Given the description of an element on the screen output the (x, y) to click on. 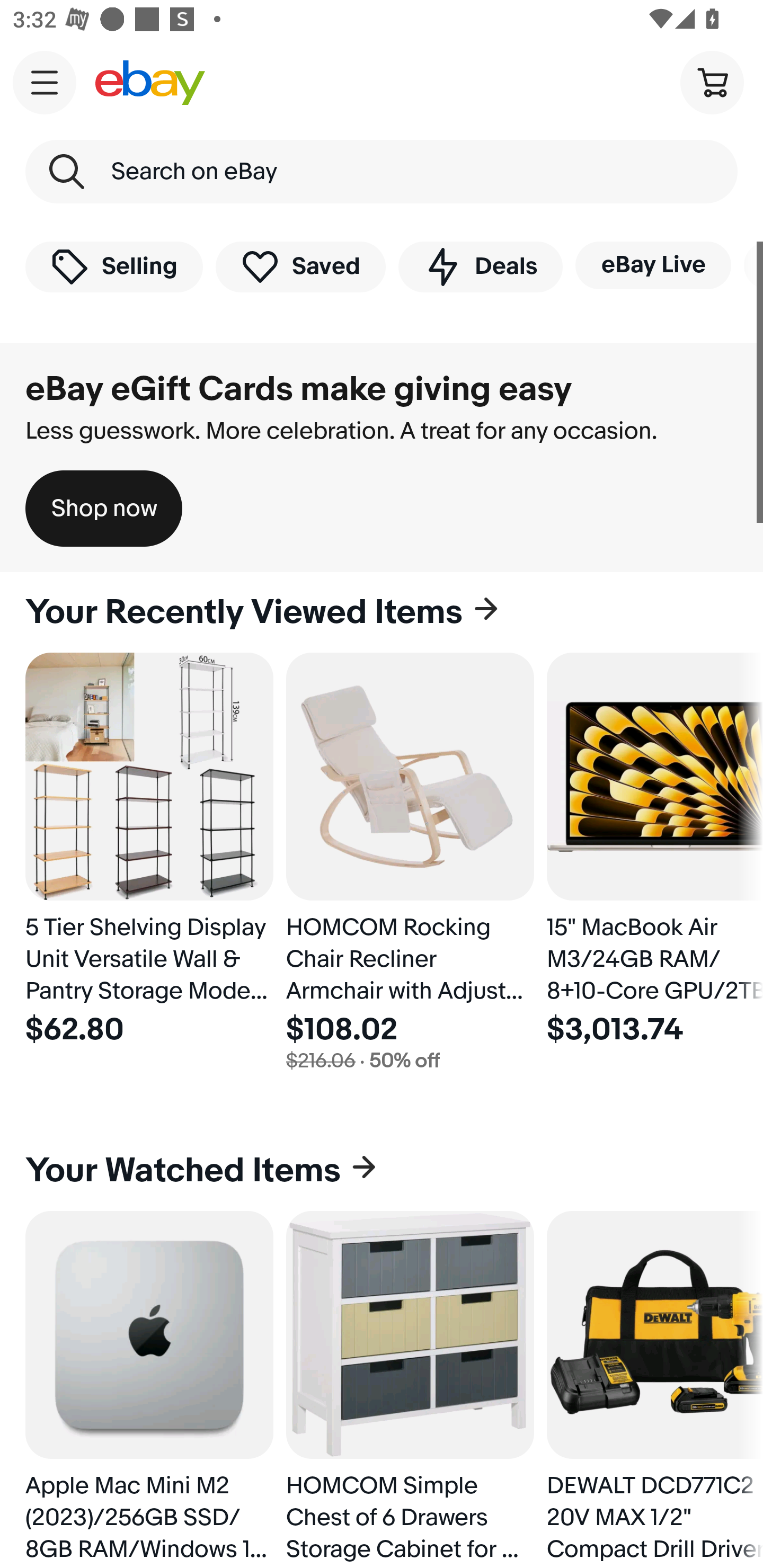
Main navigation, open (44, 82)
Cart button shopping cart (711, 81)
Search on eBay Search Keyword Search on eBay (381, 171)
Selling (113, 266)
Saved (300, 266)
Deals (480, 266)
eBay Live (652, 264)
eBay eGift Cards make giving easy (298, 389)
Shop now (103, 508)
Your Recently Viewed Items   (381, 612)
Your Watched Items   (381, 1170)
